Given the description of an element on the screen output the (x, y) to click on. 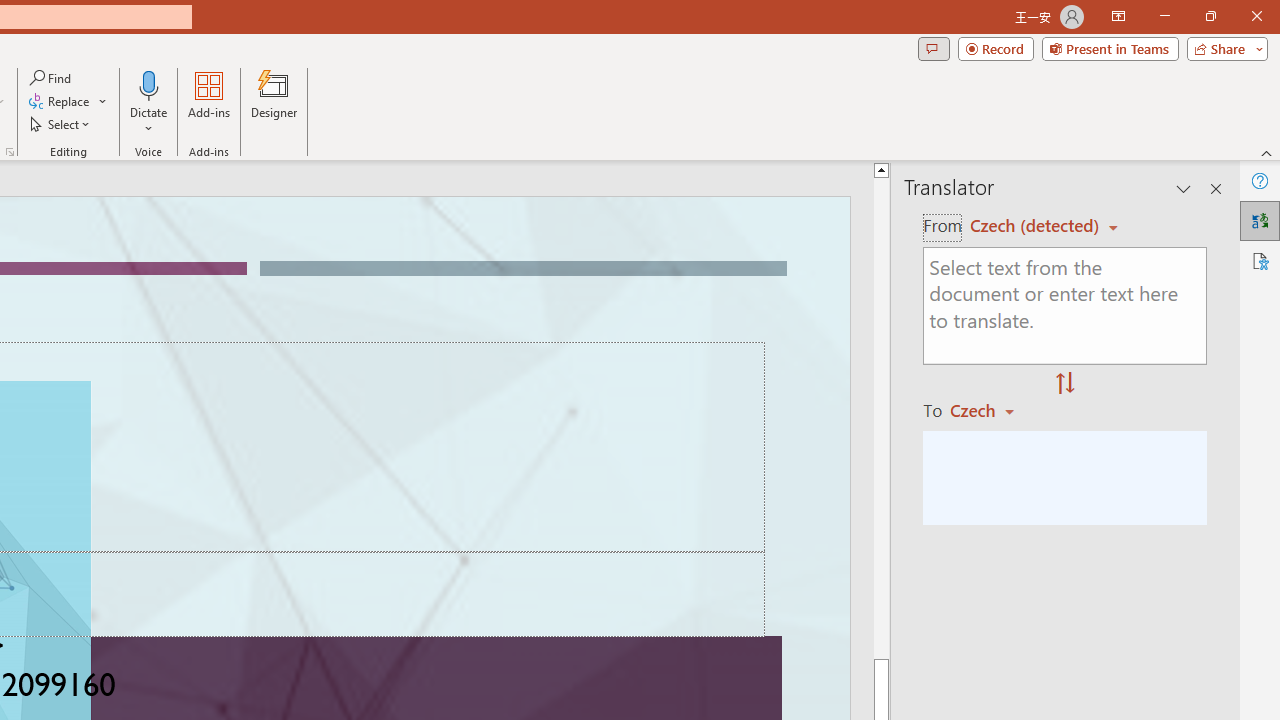
Swap "from" and "to" languages. (1065, 383)
